Given the description of an element on the screen output the (x, y) to click on. 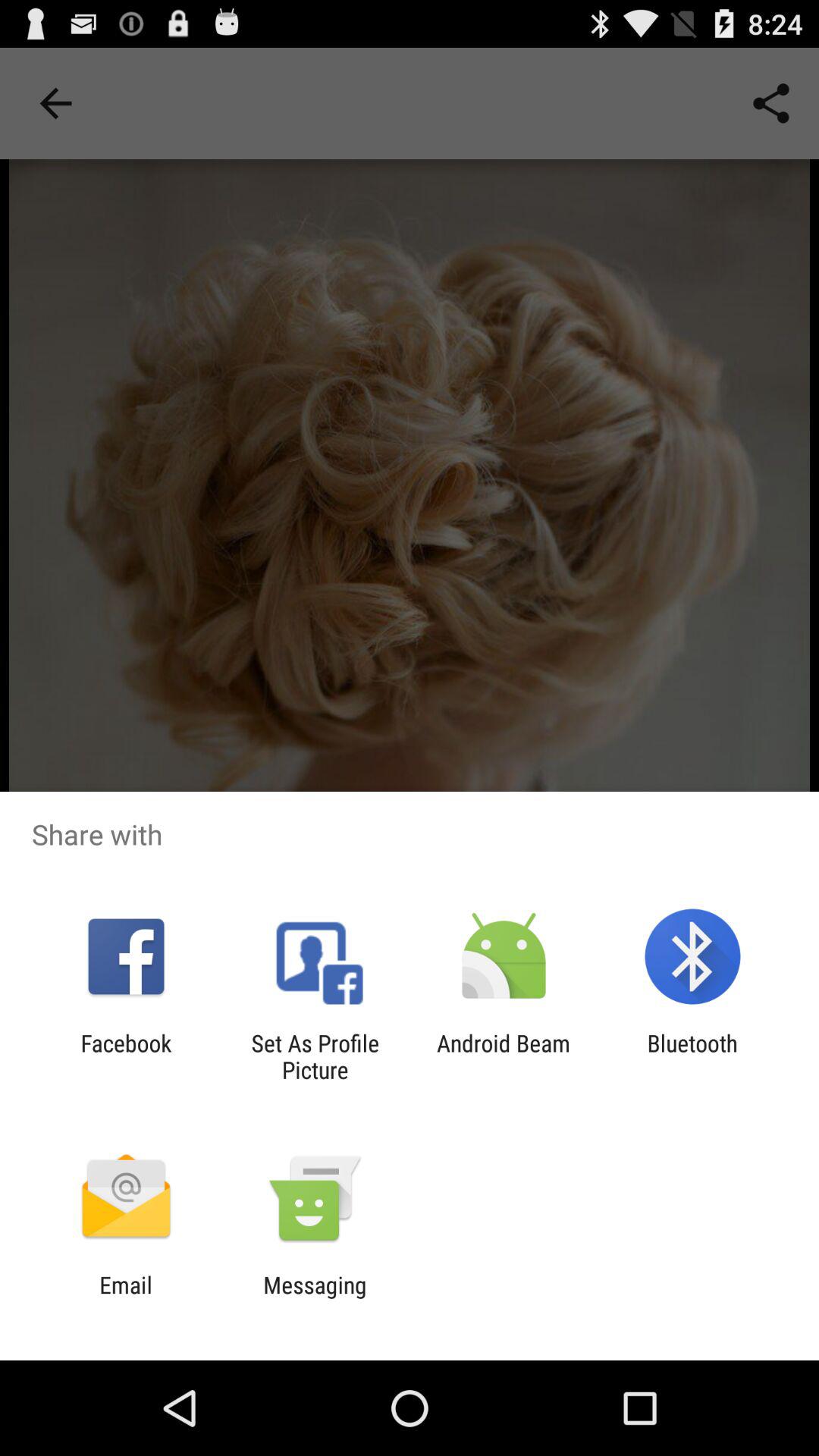
swipe to the facebook item (125, 1056)
